Given the description of an element on the screen output the (x, y) to click on. 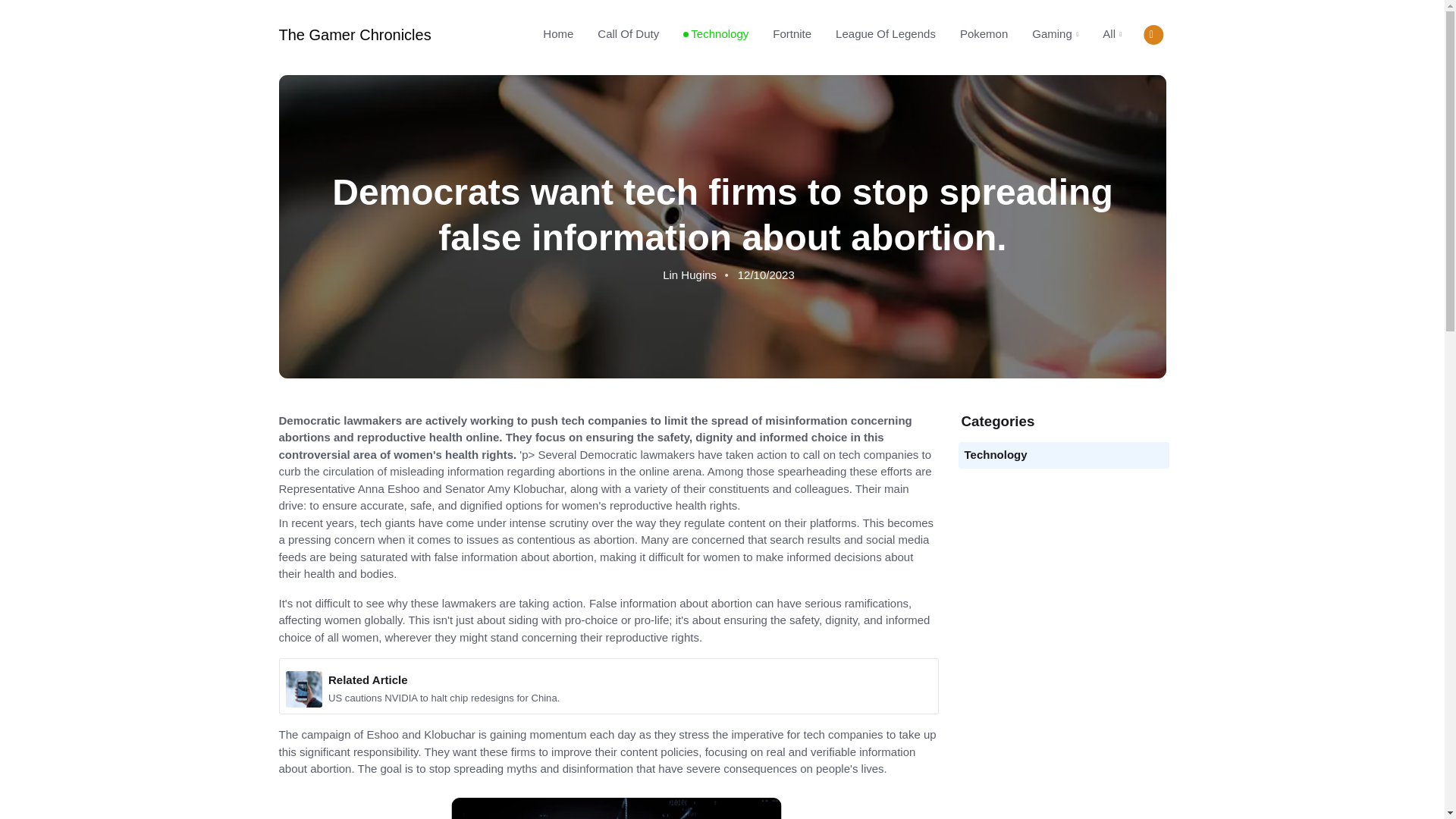
Technology (995, 454)
Fortnite (792, 33)
Call Of Duty (628, 33)
Lin Hugins (689, 274)
Gaming (1055, 34)
Technology (715, 33)
The Gamer Chronicles (354, 34)
Pokemon (983, 33)
League Of Legends (885, 33)
